Given the description of an element on the screen output the (x, y) to click on. 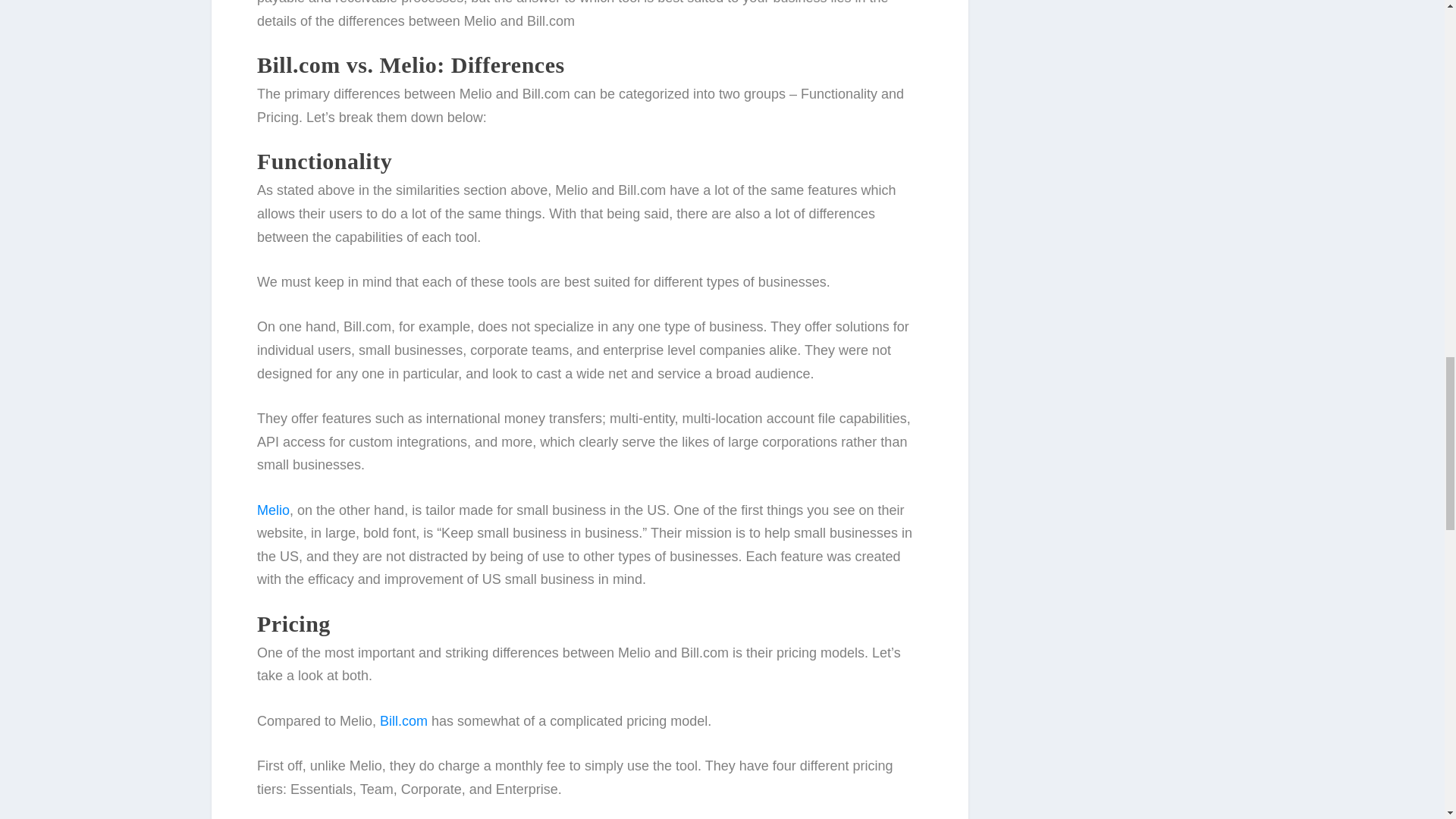
Bill.com (404, 720)
Melio (273, 509)
